Given the description of an element on the screen output the (x, y) to click on. 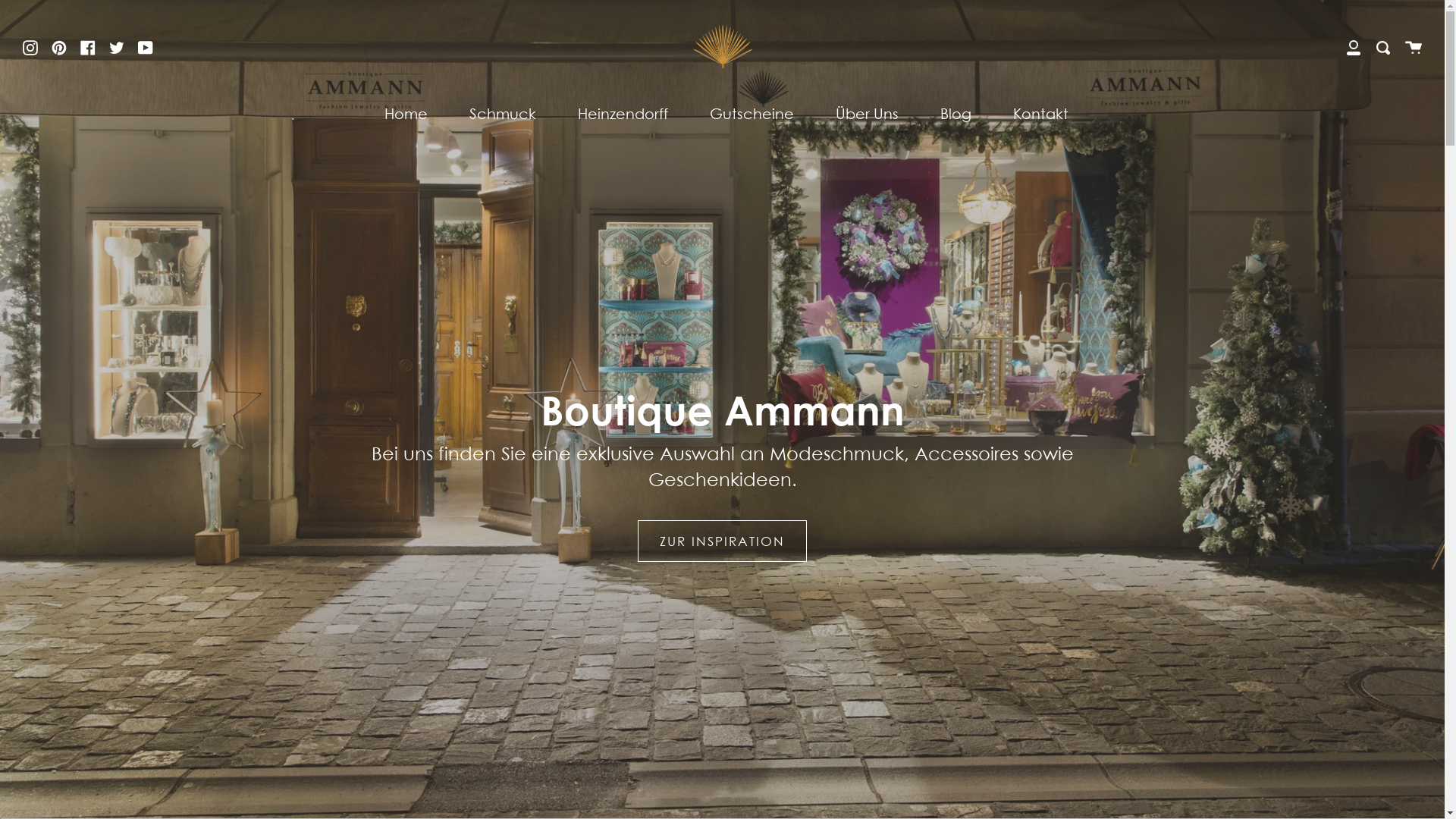
Pinterest Element type: text (58, 46)
Kontakt Element type: text (1039, 113)
Facebook Element type: text (87, 46)
Mein Konto Element type: text (1353, 47)
Twitter Element type: text (116, 46)
Gutscheine Element type: text (751, 113)
Heinzendorff Element type: text (622, 113)
Warenkorb Element type: text (1413, 47)
Blog Element type: text (954, 113)
Schmuck Element type: text (502, 113)
Instagram Element type: text (29, 46)
ZUR INSPIRATION Element type: text (721, 541)
Suchen Element type: text (1383, 47)
YouTube Element type: text (145, 46)
Home Element type: text (405, 113)
